Given the description of an element on the screen output the (x, y) to click on. 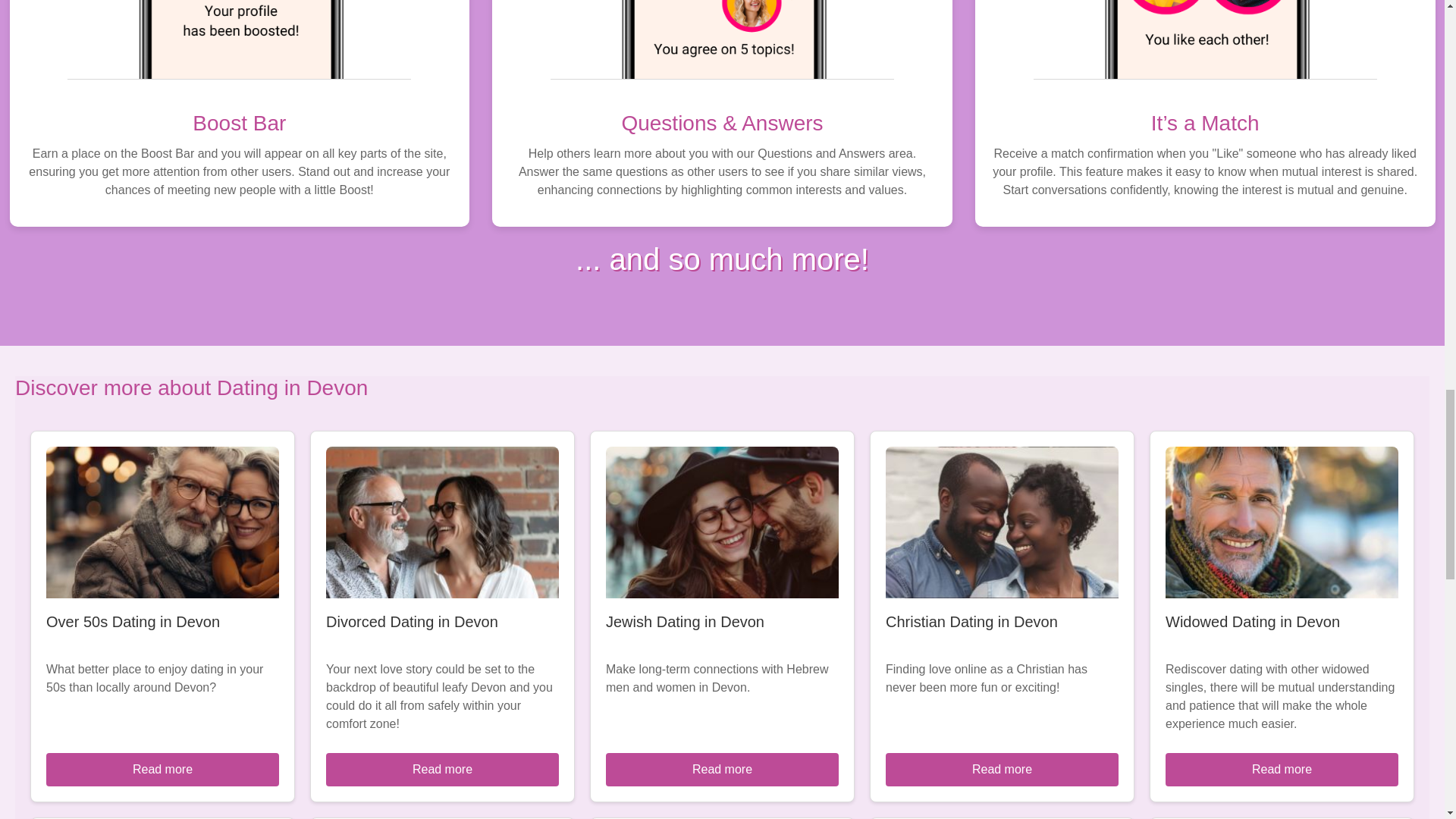
Read more (1281, 769)
Read more (442, 769)
Read more (162, 769)
Read more (1001, 769)
Read more (721, 769)
